Given the description of an element on the screen output the (x, y) to click on. 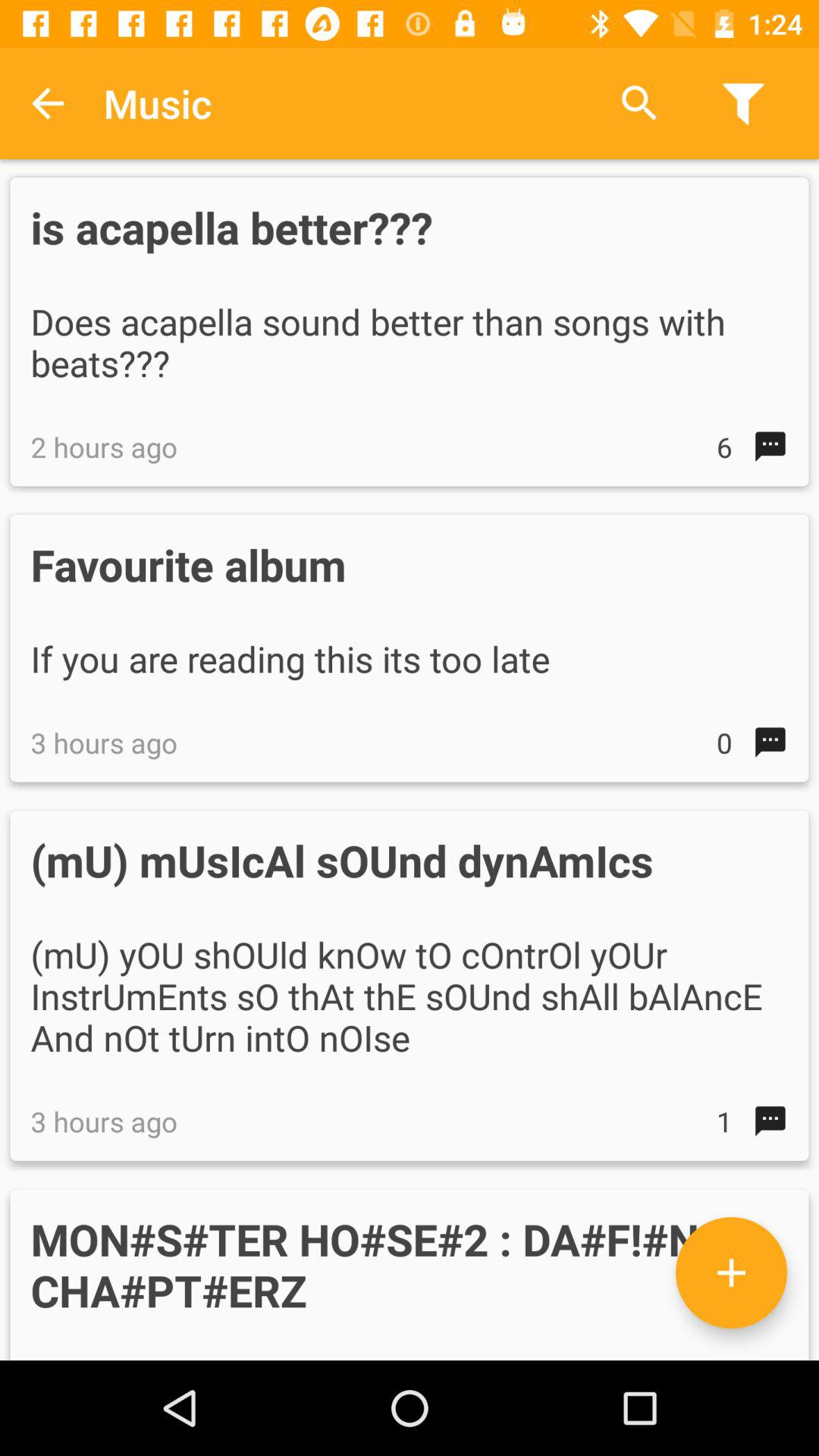
other options (731, 1272)
